Given the description of an element on the screen output the (x, y) to click on. 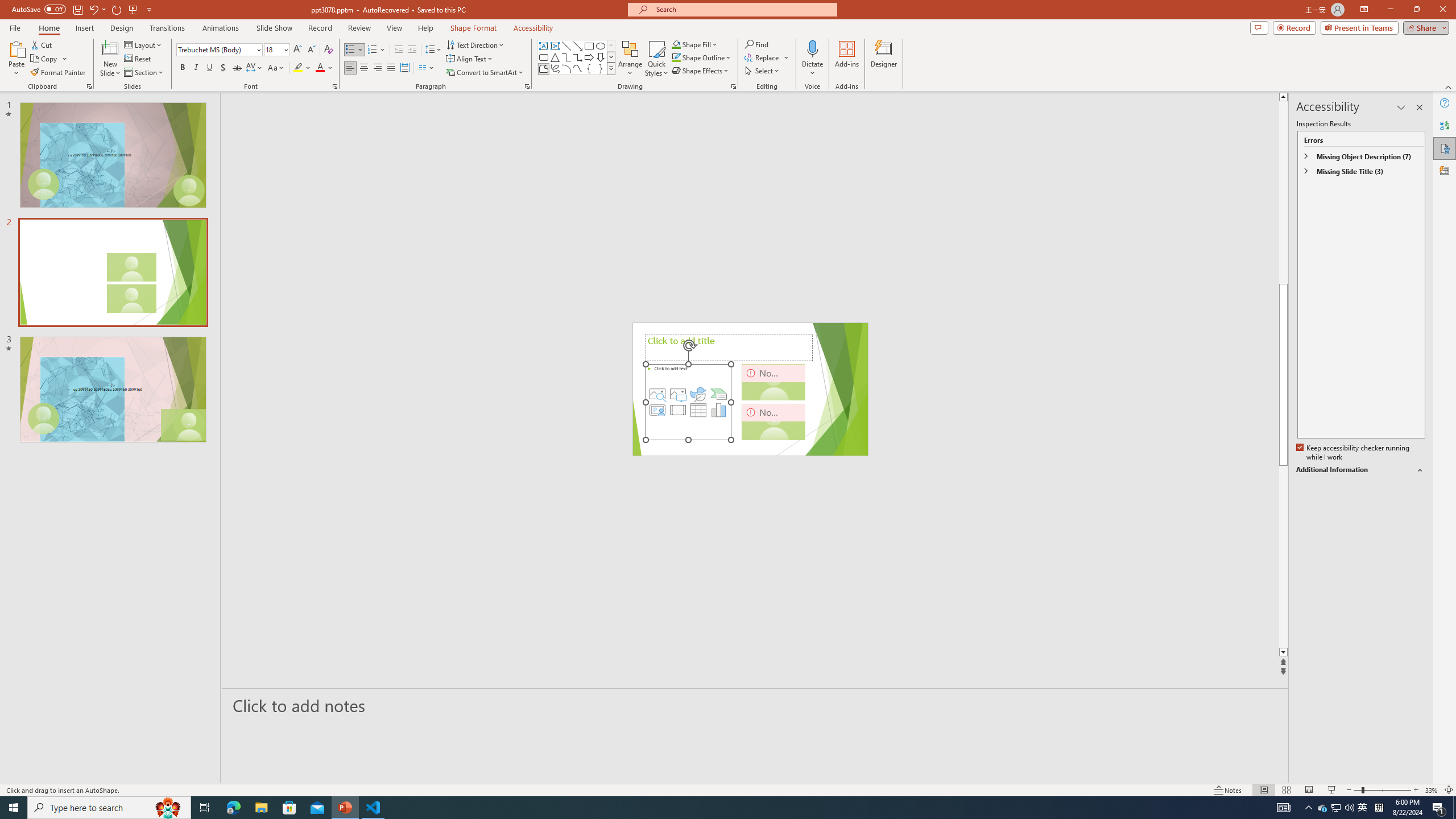
Insert Cameo (656, 409)
